Given the description of an element on the screen output the (x, y) to click on. 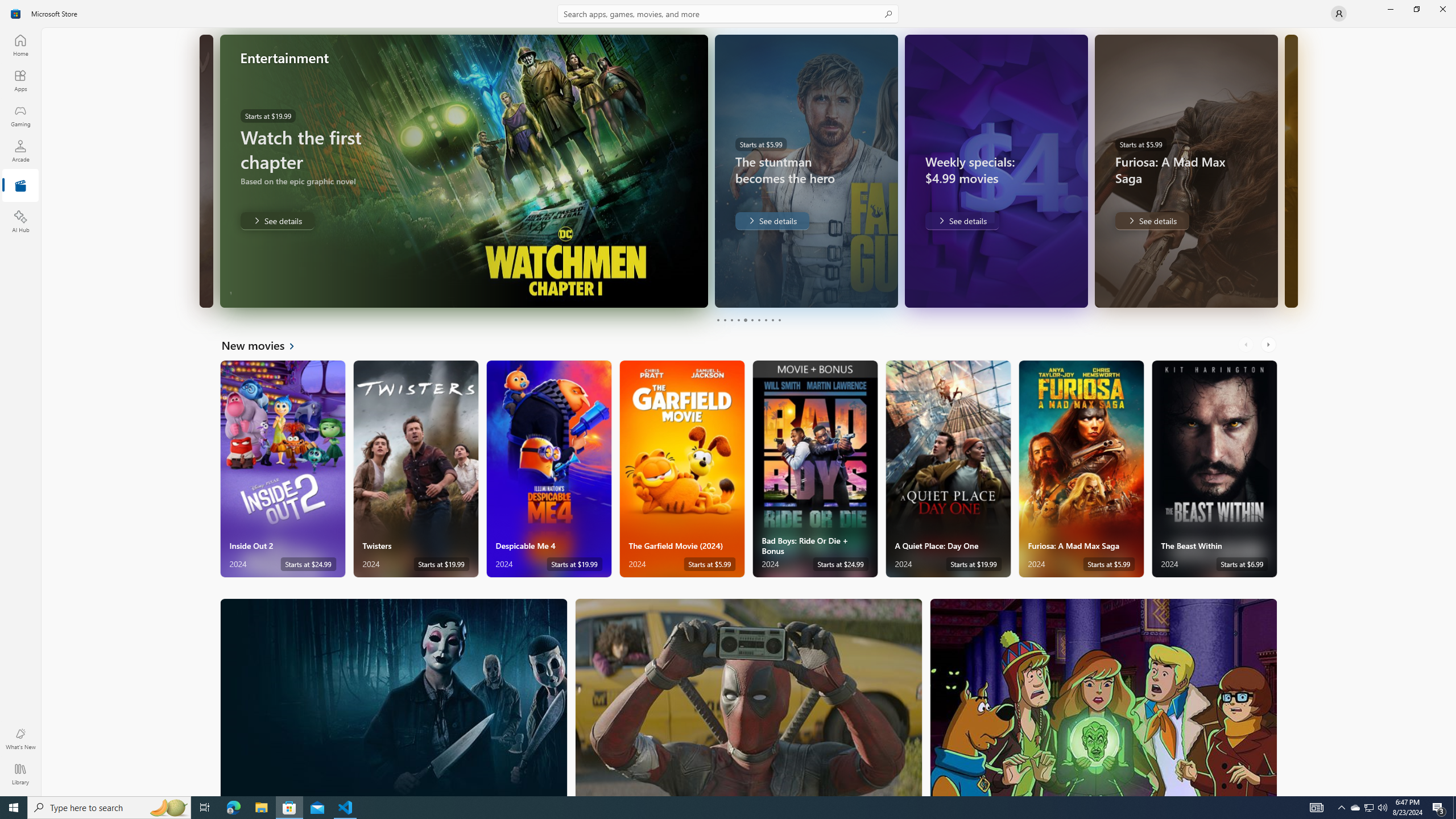
AI Hub (20, 221)
Horror (393, 697)
AutomationID: Image (1295, 170)
What's New (20, 738)
Close Microsoft Store (1442, 9)
Arcade (20, 150)
AutomationID: PosterImage (1103, 697)
Minimize Microsoft Store (1390, 9)
Page 3 (731, 319)
Entertainment (20, 185)
AutomationID: LeftScrollButton (1246, 344)
Page 4 (738, 319)
Action & Adventure (749, 697)
Page 5 (744, 319)
Search (727, 13)
